Given the description of an element on the screen output the (x, y) to click on. 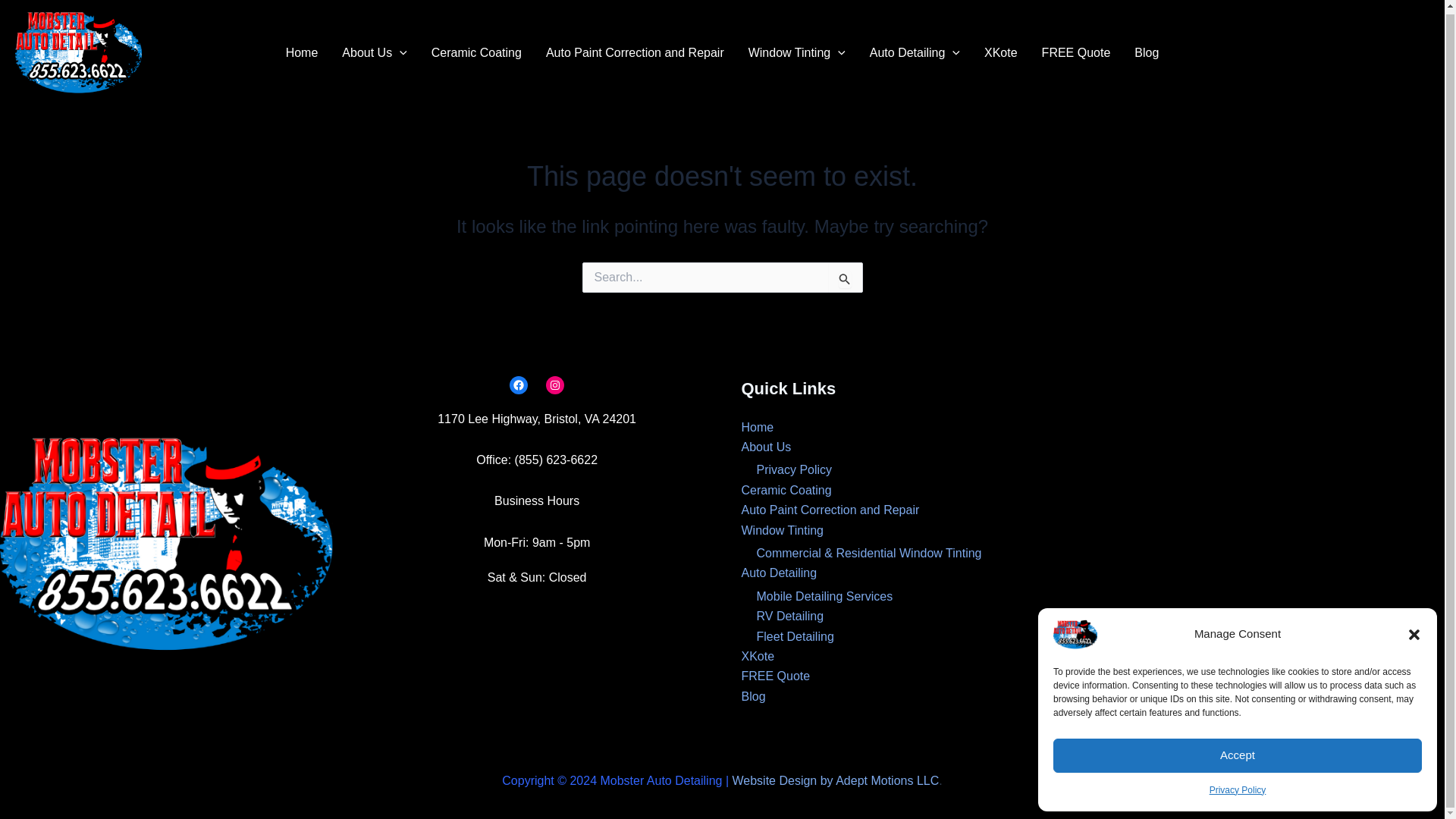
Search (844, 278)
Ceramic Coating (476, 52)
Accept (1237, 752)
Privacy Policy (1237, 786)
Auto Paint Correction and Repair (635, 52)
Search (844, 278)
About Us (374, 52)
Window Tinting (796, 52)
Auto Detailing (914, 52)
FREE Quote (1075, 52)
